Given the description of an element on the screen output the (x, y) to click on. 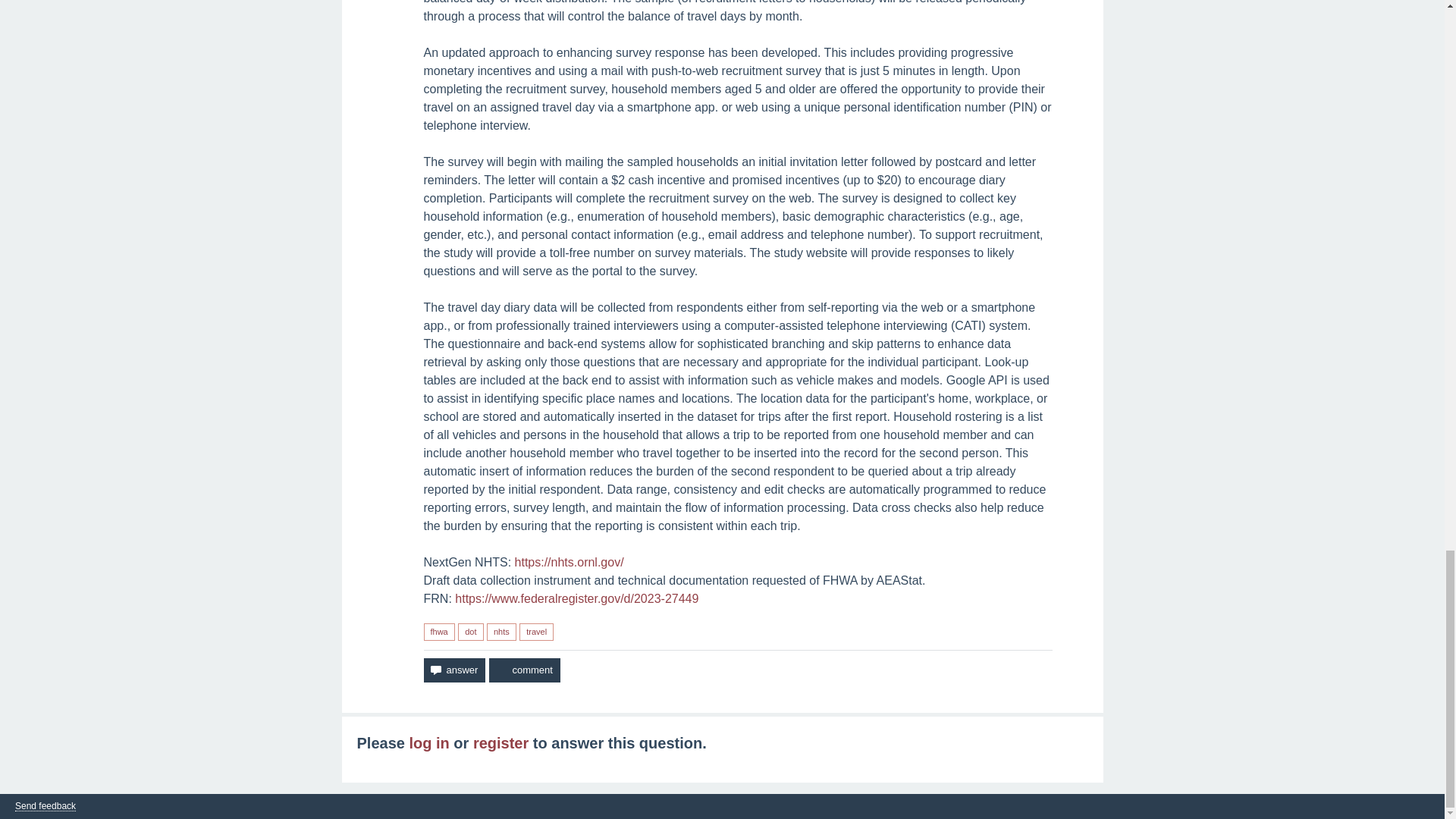
comment (524, 670)
Send feedback (44, 806)
nhts (501, 631)
Add a comment on this question (524, 670)
comment (524, 670)
register (500, 742)
fhwa (438, 631)
travel (536, 631)
dot (470, 631)
log in (428, 742)
